Given the description of an element on the screen output the (x, y) to click on. 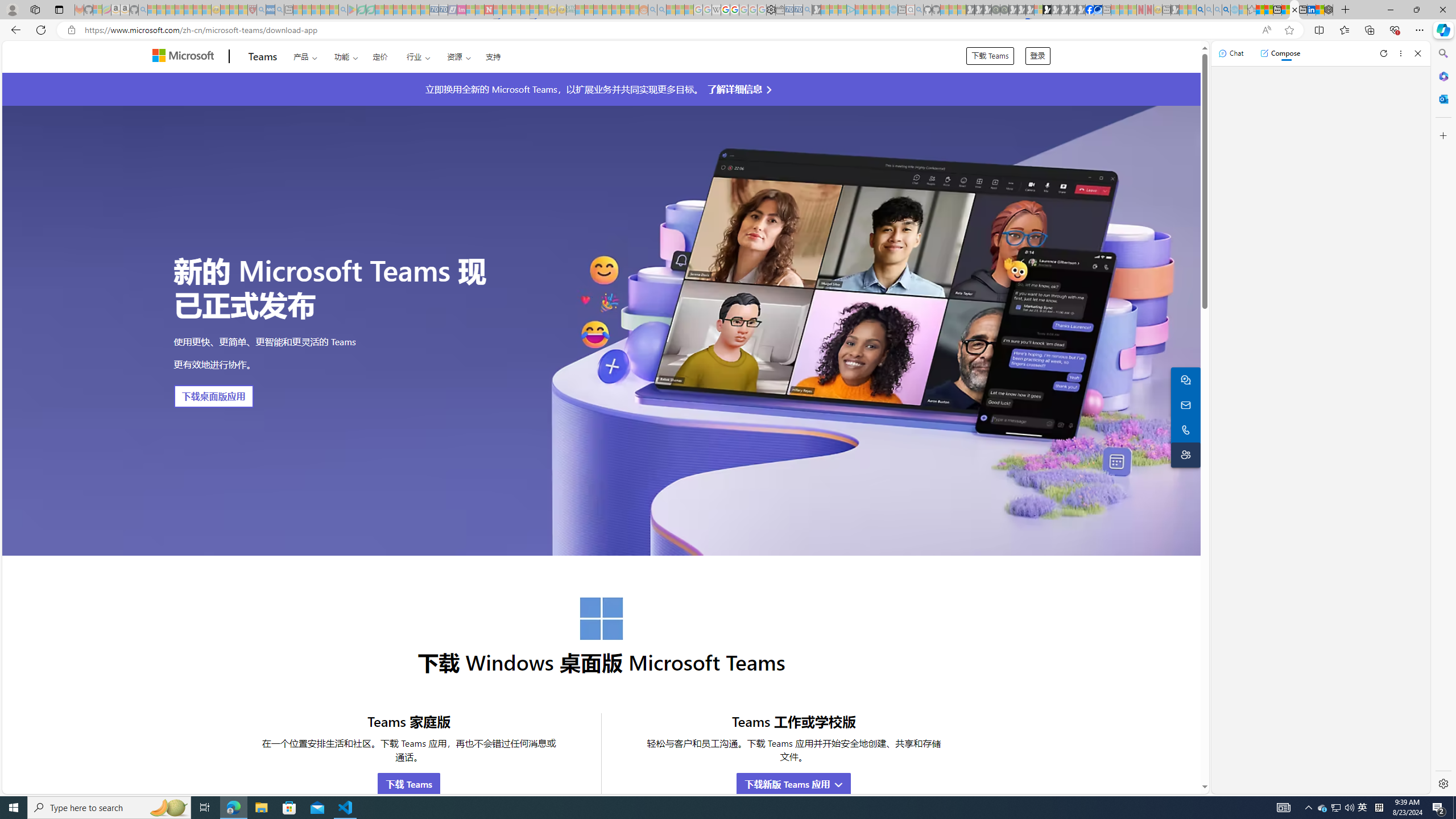
Google Chrome Internet Browser Download - Search Images (1225, 9)
Home | Sky Blue Bikes - Sky Blue Bikes - Sleeping (892, 9)
Latest Politics News & Archive | Newsweek.com - Sleeping (488, 9)
Sign in to your account - Sleeping (1038, 9)
Privacy Help Center - Policies Help (725, 9)
